Given the description of an element on the screen output the (x, y) to click on. 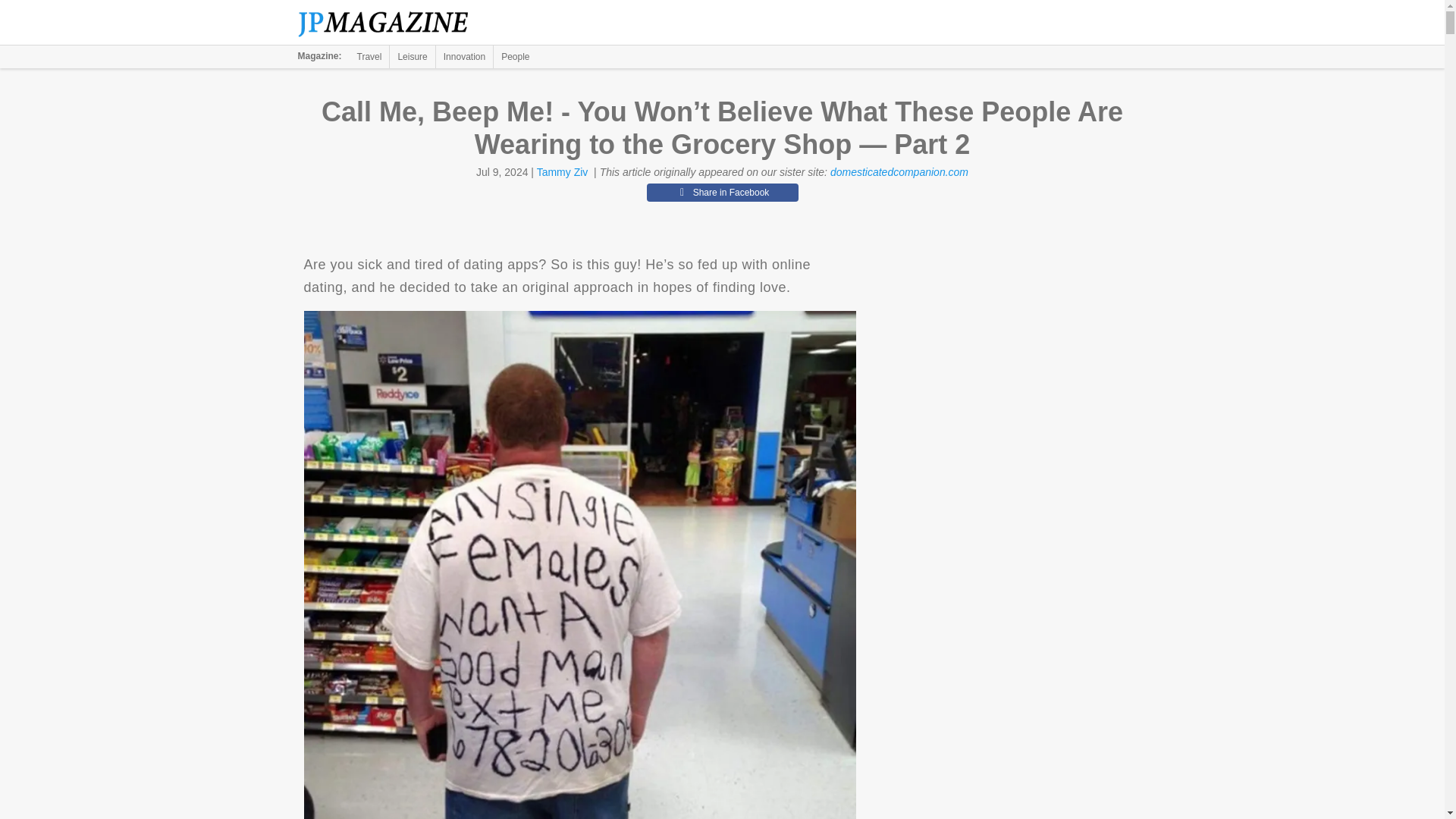
Share in Facebook (721, 192)
The Jerusalem Post Magazine (391, 22)
Leisure (411, 56)
Tammy Ziv (562, 172)
Travel (369, 56)
domesticatedcompanion.com (898, 172)
Innovation (464, 56)
People (515, 56)
